Given the description of an element on the screen output the (x, y) to click on. 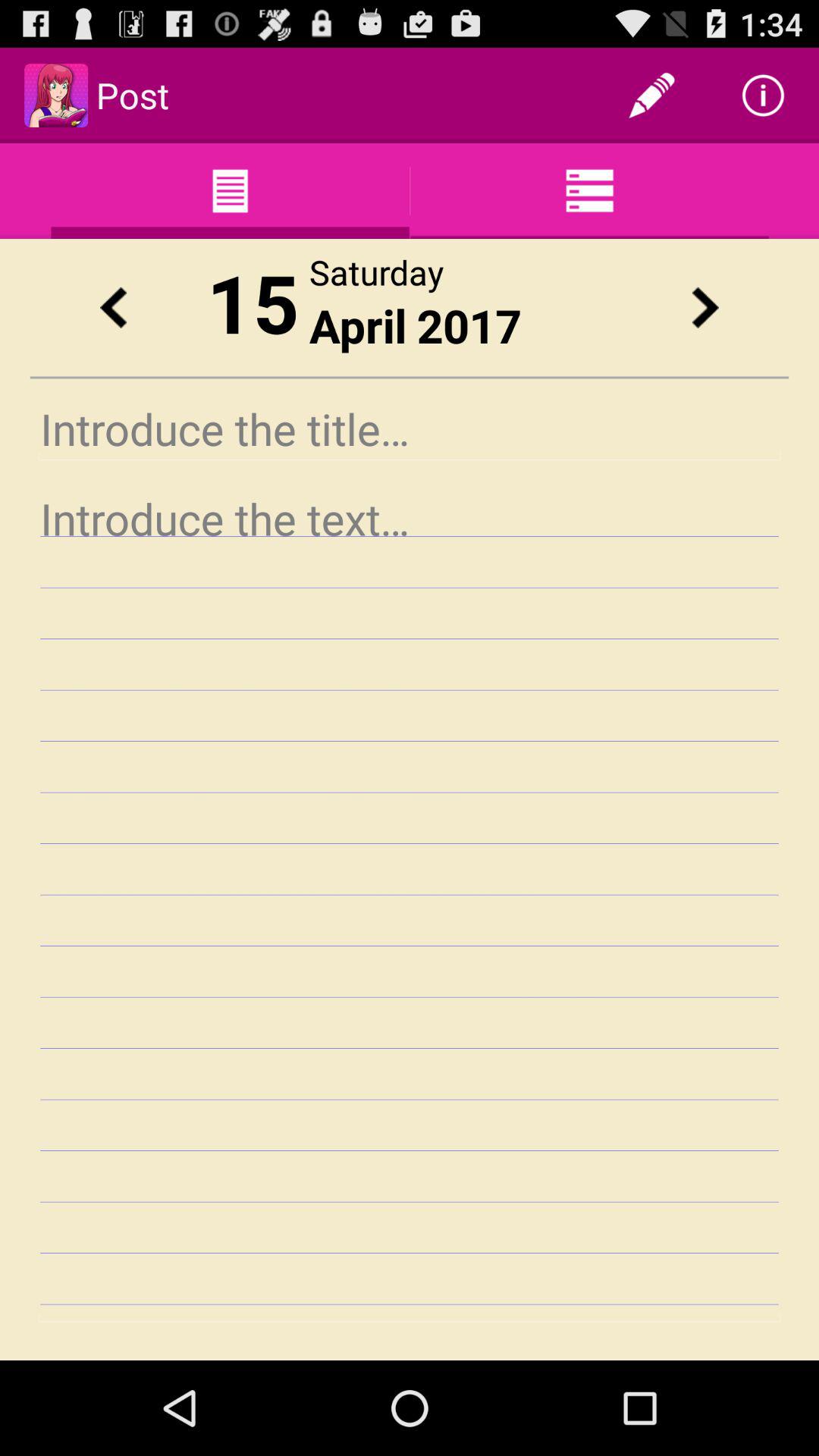
advance date (704, 307)
